Given the description of an element on the screen output the (x, y) to click on. 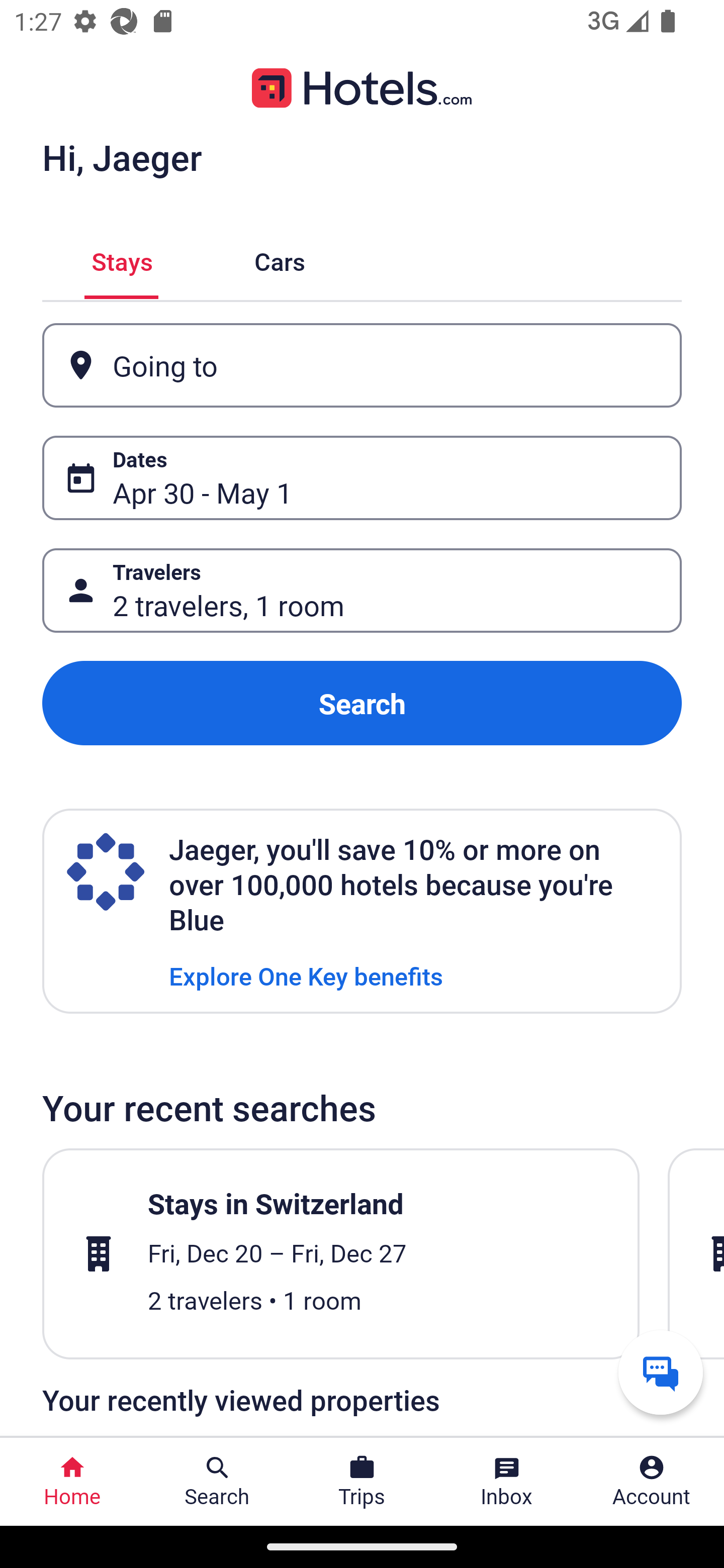
Hi, Jaeger (121, 156)
Cars (279, 259)
Going to Button (361, 365)
Dates Button Apr 30 - May 1 (361, 477)
Travelers Button 2 travelers, 1 room (361, 590)
Search (361, 702)
Get help from a virtual agent (660, 1371)
Search Search Button (216, 1481)
Trips Trips Button (361, 1481)
Inbox Inbox Button (506, 1481)
Account Profile. Button (651, 1481)
